Given the description of an element on the screen output the (x, y) to click on. 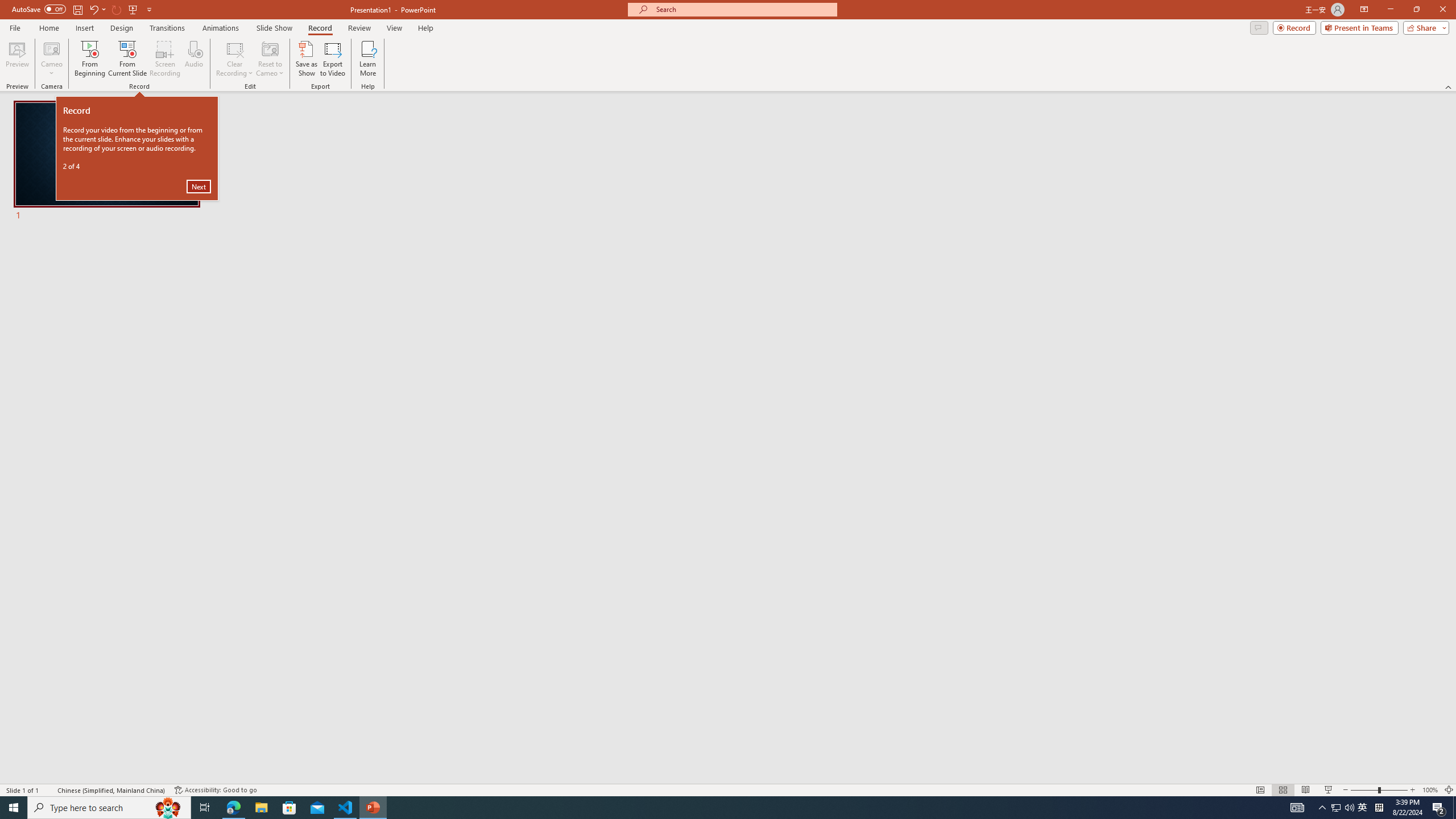
Tray Input Indicator - Chinese (Simplified, China) (1378, 807)
More Options (51, 68)
Animations (220, 28)
Class: MsoCommandBar (728, 789)
File Explorer (261, 807)
Design (122, 28)
Clear Recording (234, 58)
Type here to search (108, 807)
Reset to Cameo (269, 58)
Transitions (167, 28)
Screen Recording (165, 58)
Spell Check  (49, 790)
Home (48, 28)
